Given the description of an element on the screen output the (x, y) to click on. 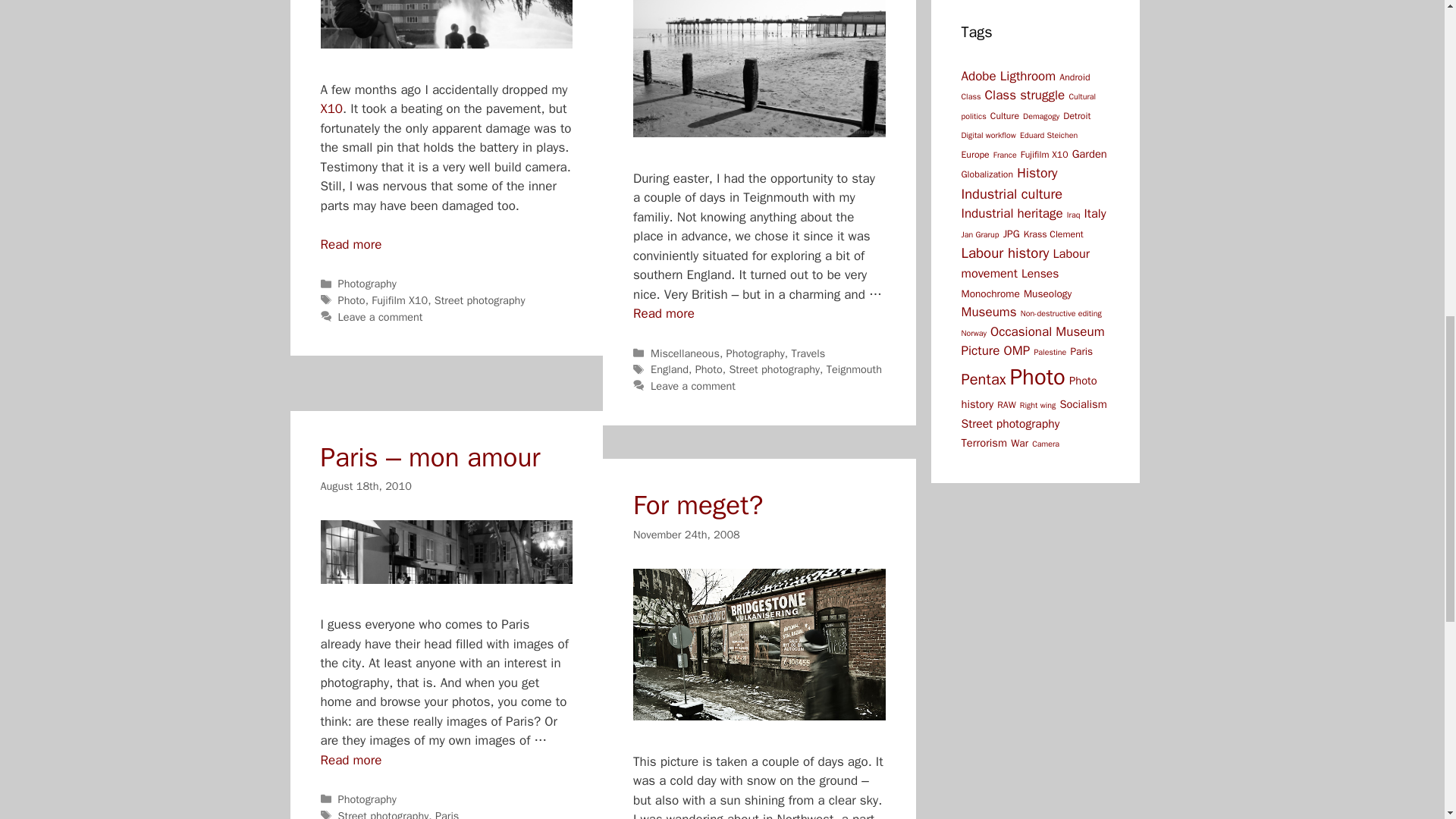
X10 back on track (350, 244)
Photography (755, 353)
Photography (366, 283)
Leave a comment (380, 316)
Teignmouth (663, 313)
Read more (663, 313)
Travels (808, 353)
Read more (350, 244)
Fujifilm X10 (399, 300)
Photo (708, 368)
Street photography (479, 300)
Miscellaneous (684, 353)
Photo (351, 300)
X10 (331, 108)
England (669, 368)
